Given the description of an element on the screen output the (x, y) to click on. 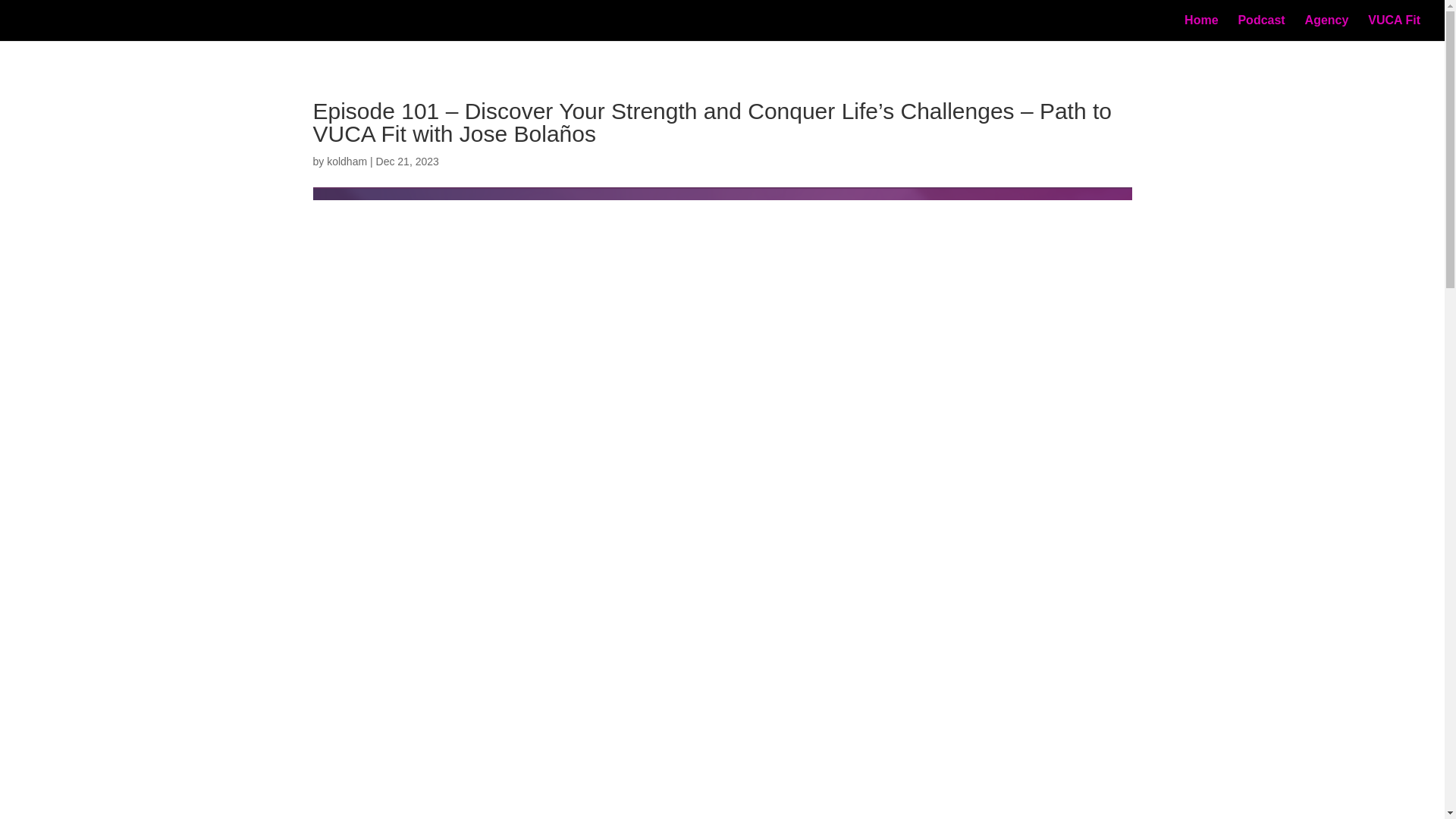
Agency (1326, 27)
koldham (346, 161)
YouTube video player (524, 773)
VUCA Fit (1394, 27)
Posts by koldham (346, 161)
Home (1201, 27)
Podcast (1260, 27)
